Given the description of an element on the screen output the (x, y) to click on. 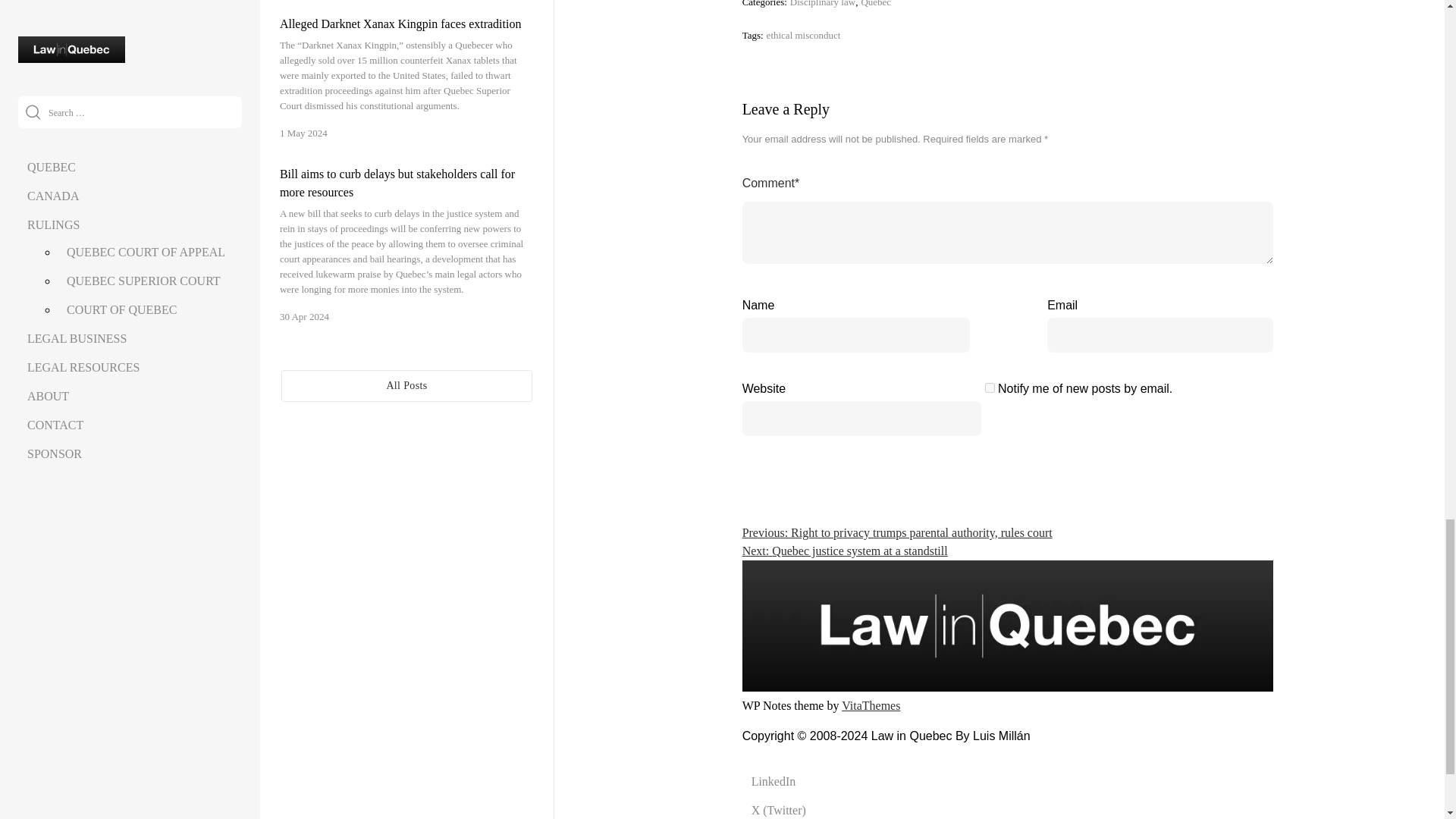
subscribe (989, 388)
All Posts (406, 386)
Post Comment (1211, 395)
